Given the description of an element on the screen output the (x, y) to click on. 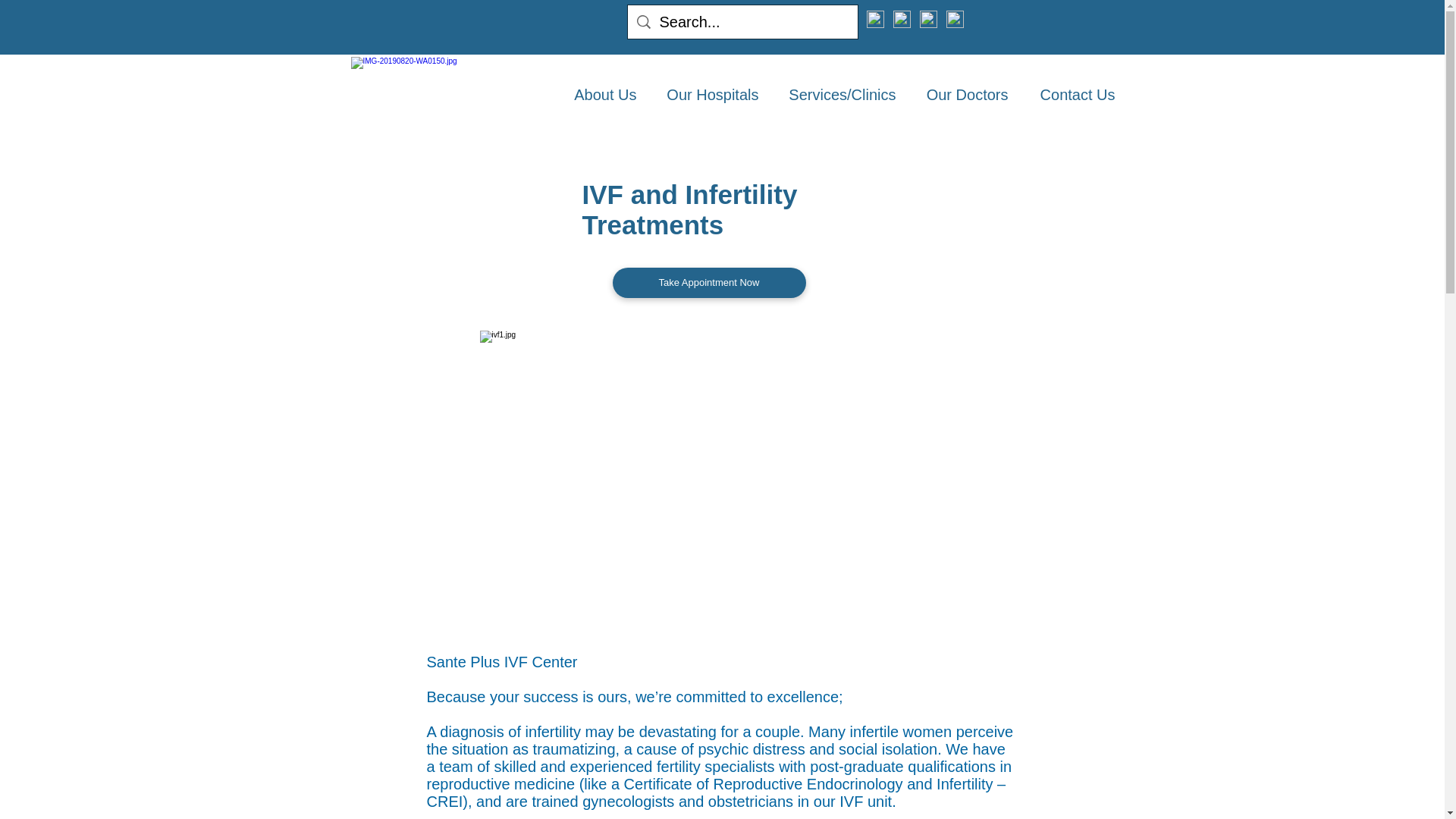
Our Doctors (963, 94)
About Us (600, 94)
Contact Us (1072, 94)
Take Appointment Now (709, 282)
Our Hospitals (708, 94)
